Given the description of an element on the screen output the (x, y) to click on. 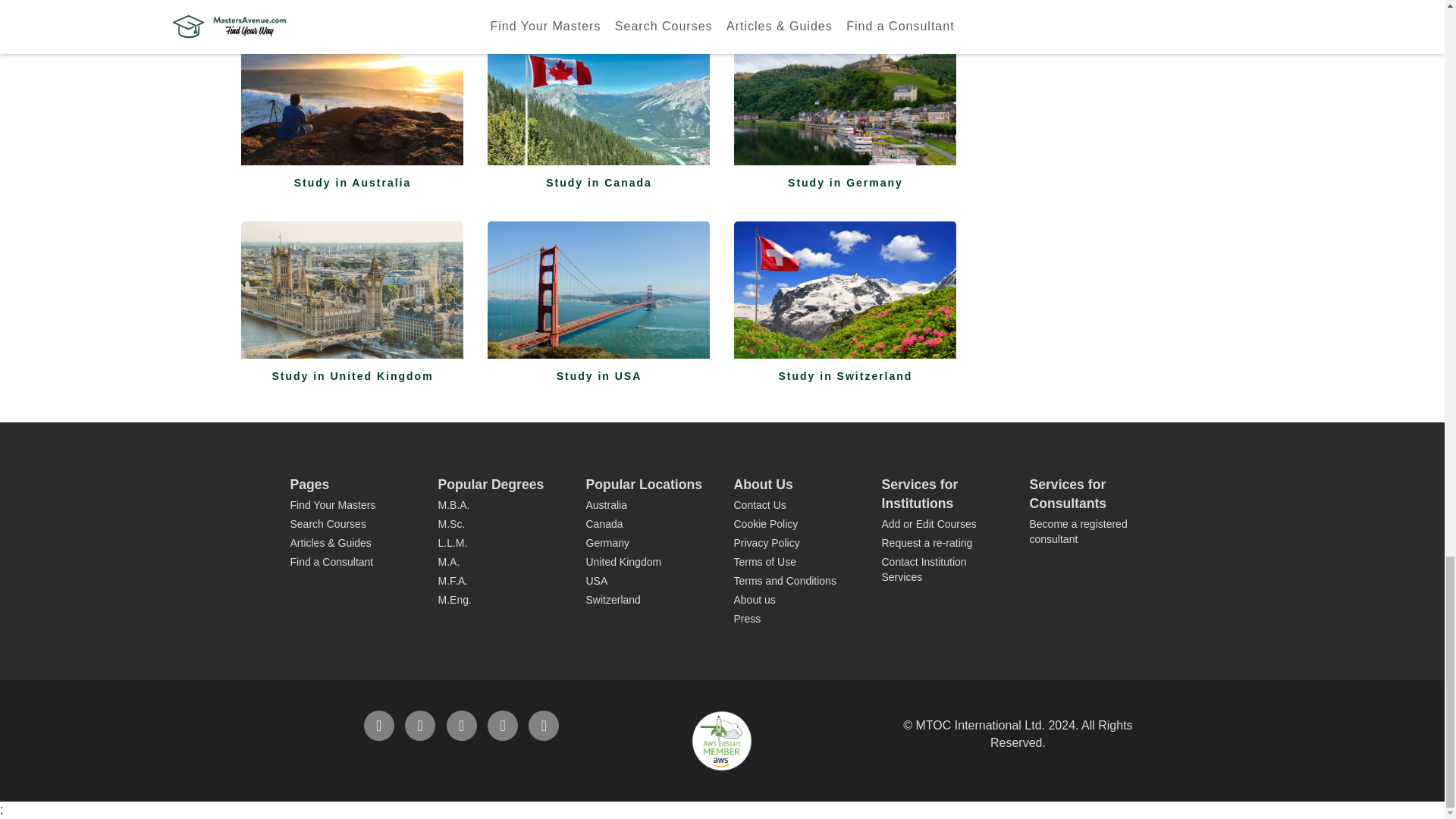
Study in Germany (844, 101)
Study in USA (598, 295)
Study in Canada (598, 101)
Study in United Kingdom (352, 295)
Study in Switzerland (844, 295)
Study in Australia (352, 101)
Find Your Masters (332, 504)
Search Courses (327, 523)
